Given the description of an element on the screen output the (x, y) to click on. 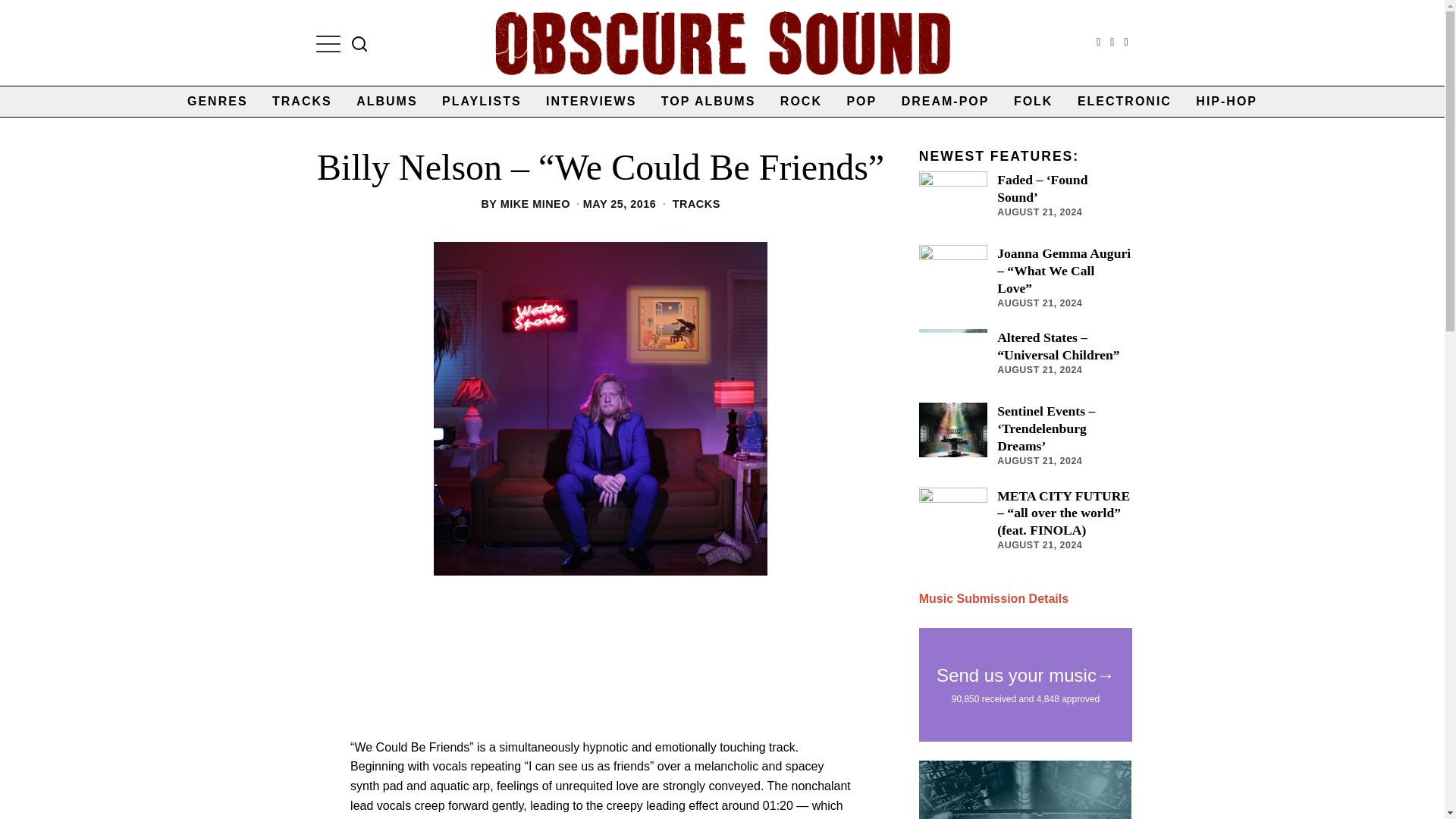
PLAYLISTS (481, 101)
ROCK (801, 101)
ALBUMS (387, 101)
ELECTRONIC (1124, 101)
DREAM-POP (945, 101)
Send music (993, 598)
POP (860, 101)
GENRES (217, 101)
TRACKS (302, 101)
TOP ALBUMS (708, 101)
